Given the description of an element on the screen output the (x, y) to click on. 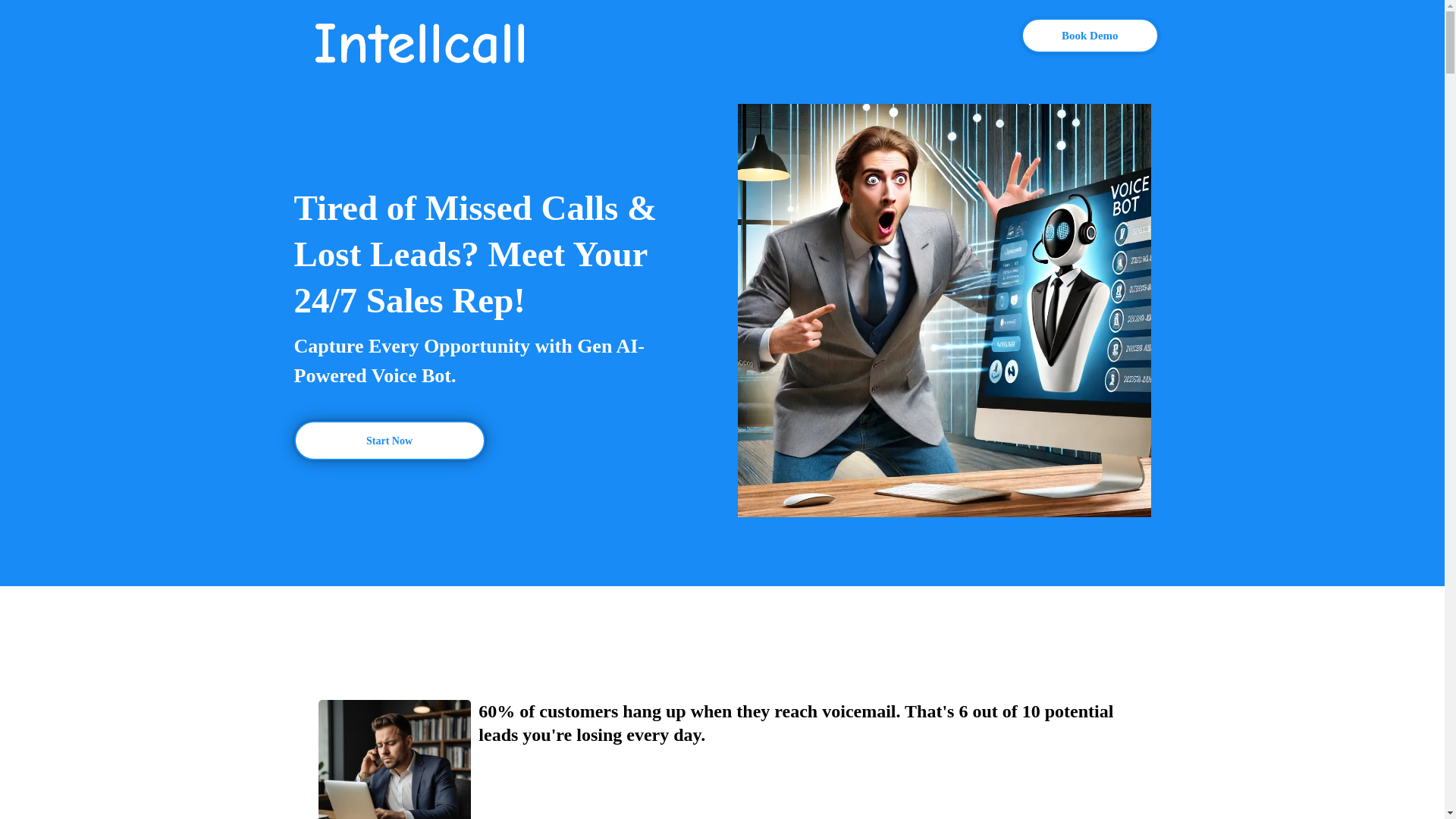
Start Now (389, 440)
Book Demo (1089, 35)
